Given the description of an element on the screen output the (x, y) to click on. 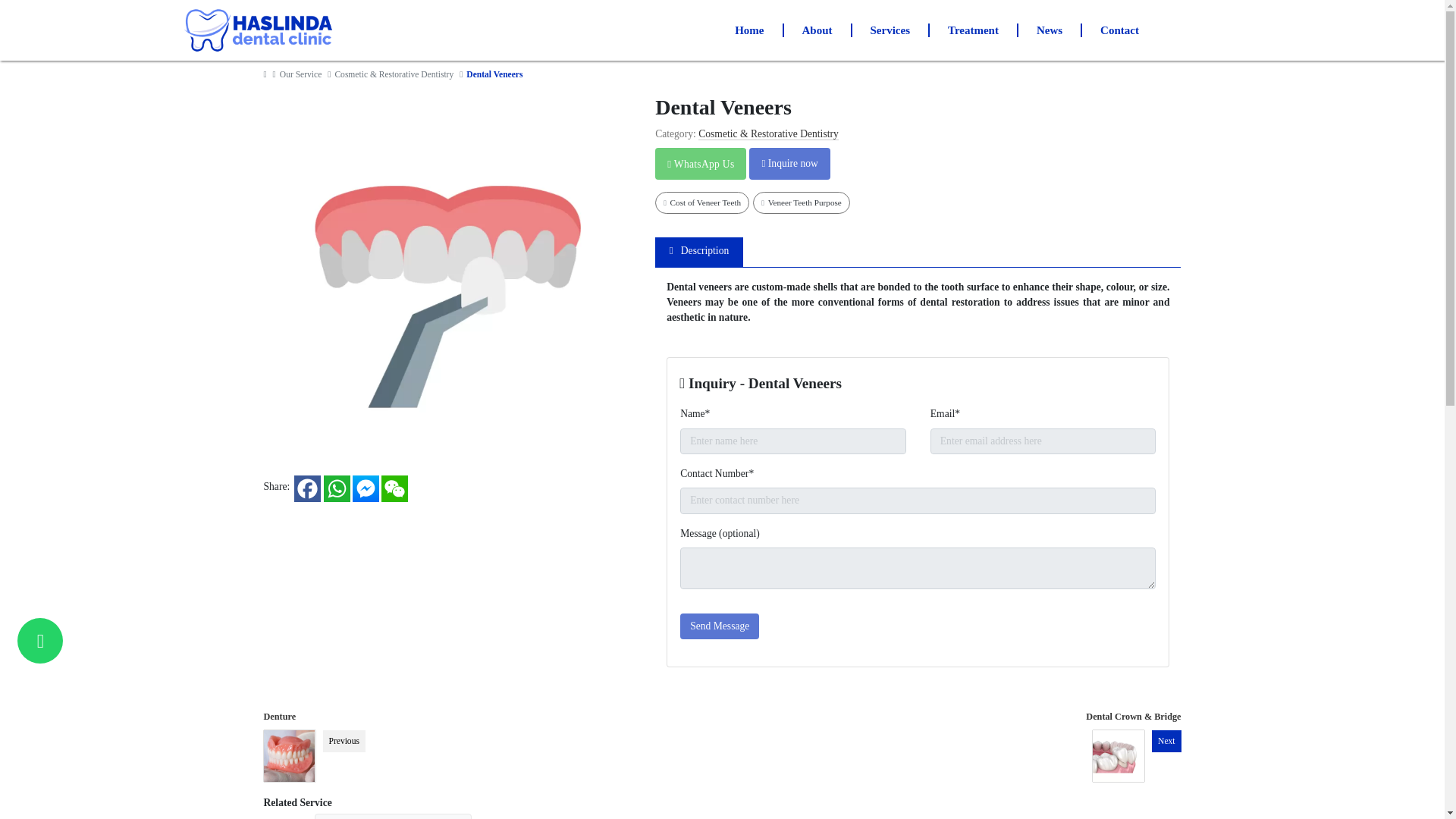
News (1049, 30)
Cost of Veneer Teeth (702, 202)
Inquire now (789, 163)
News (1049, 30)
WhatsApp Us (699, 164)
Home (749, 30)
Homepage (266, 74)
Send Message (718, 626)
Denture (280, 716)
Services (889, 30)
About (817, 30)
Our Service (301, 74)
Our Service (301, 74)
  Description (698, 251)
Services (889, 30)
